Given the description of an element on the screen output the (x, y) to click on. 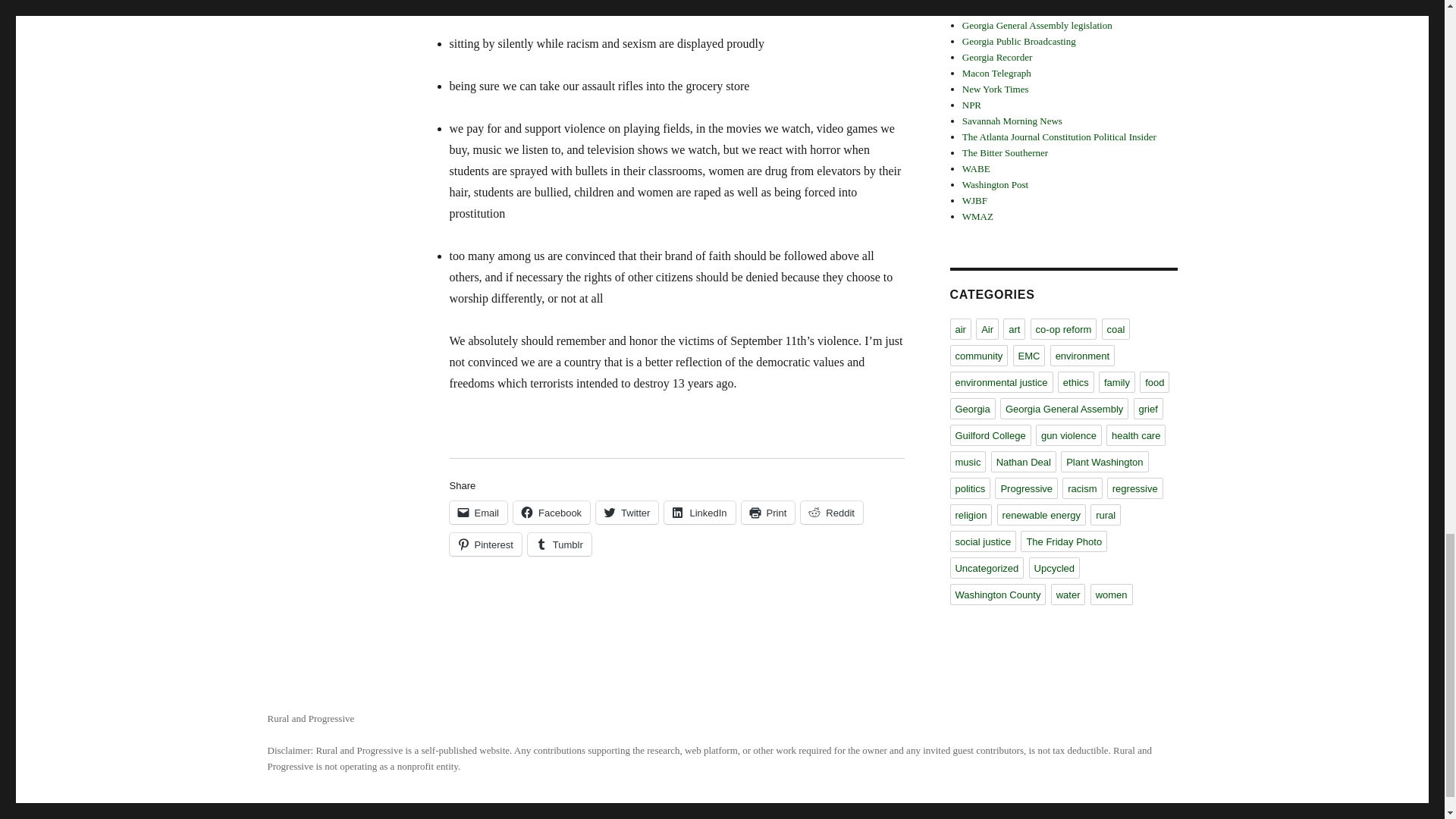
Click to share on Pinterest (484, 544)
Click to share on Tumblr (559, 544)
Pinterest (484, 544)
Click to share on Twitter (626, 512)
AJC Political Insider (1059, 136)
Click to print (767, 512)
Print (767, 512)
Facebook (551, 512)
LinkedIn (699, 512)
Reddit (831, 512)
